Given the description of an element on the screen output the (x, y) to click on. 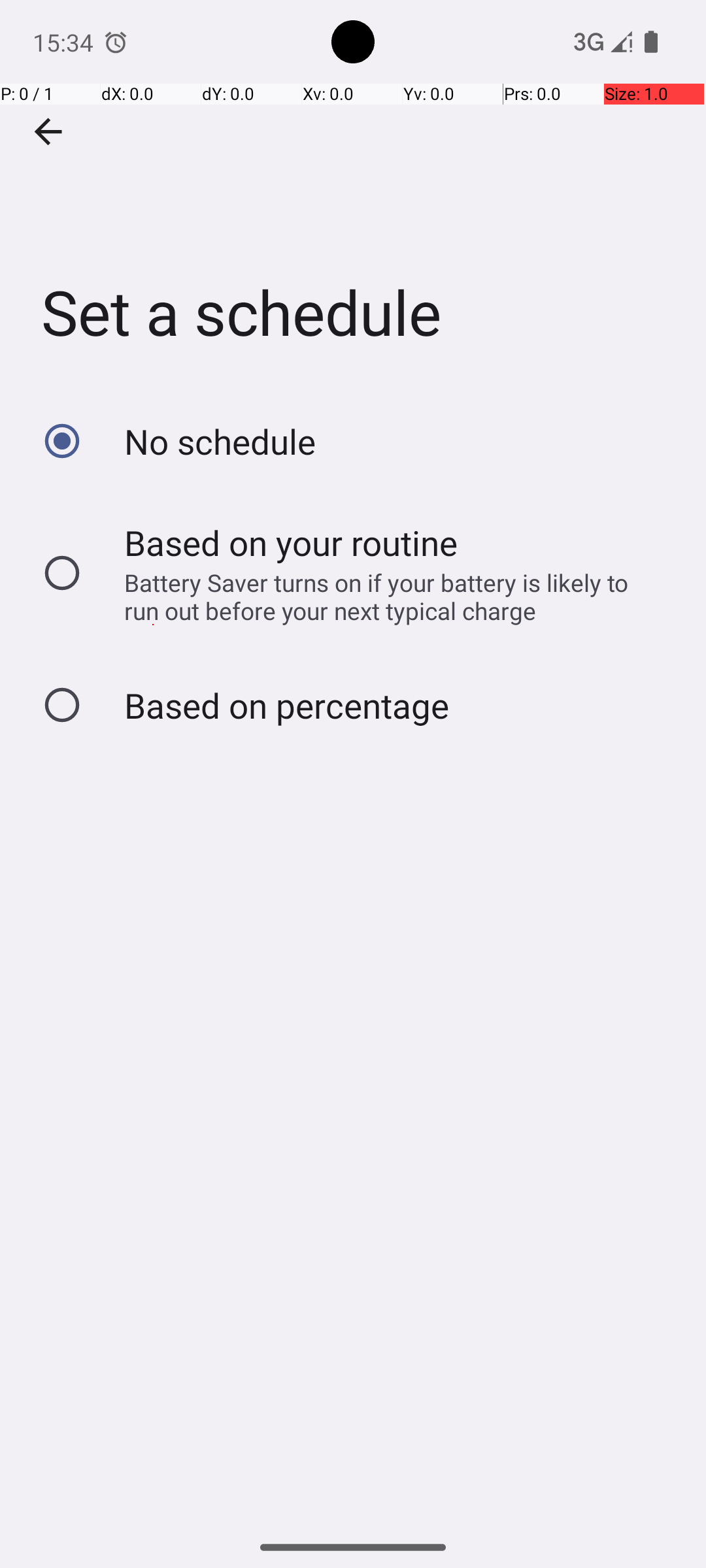
Based on your routine Element type: android.widget.TextView (291, 542)
Battery Saver turns on if your battery is likely to run out before your next typical charge Element type: android.widget.TextView (387, 596)
Based on percentage Element type: android.widget.TextView (286, 705)
